Given the description of an element on the screen output the (x, y) to click on. 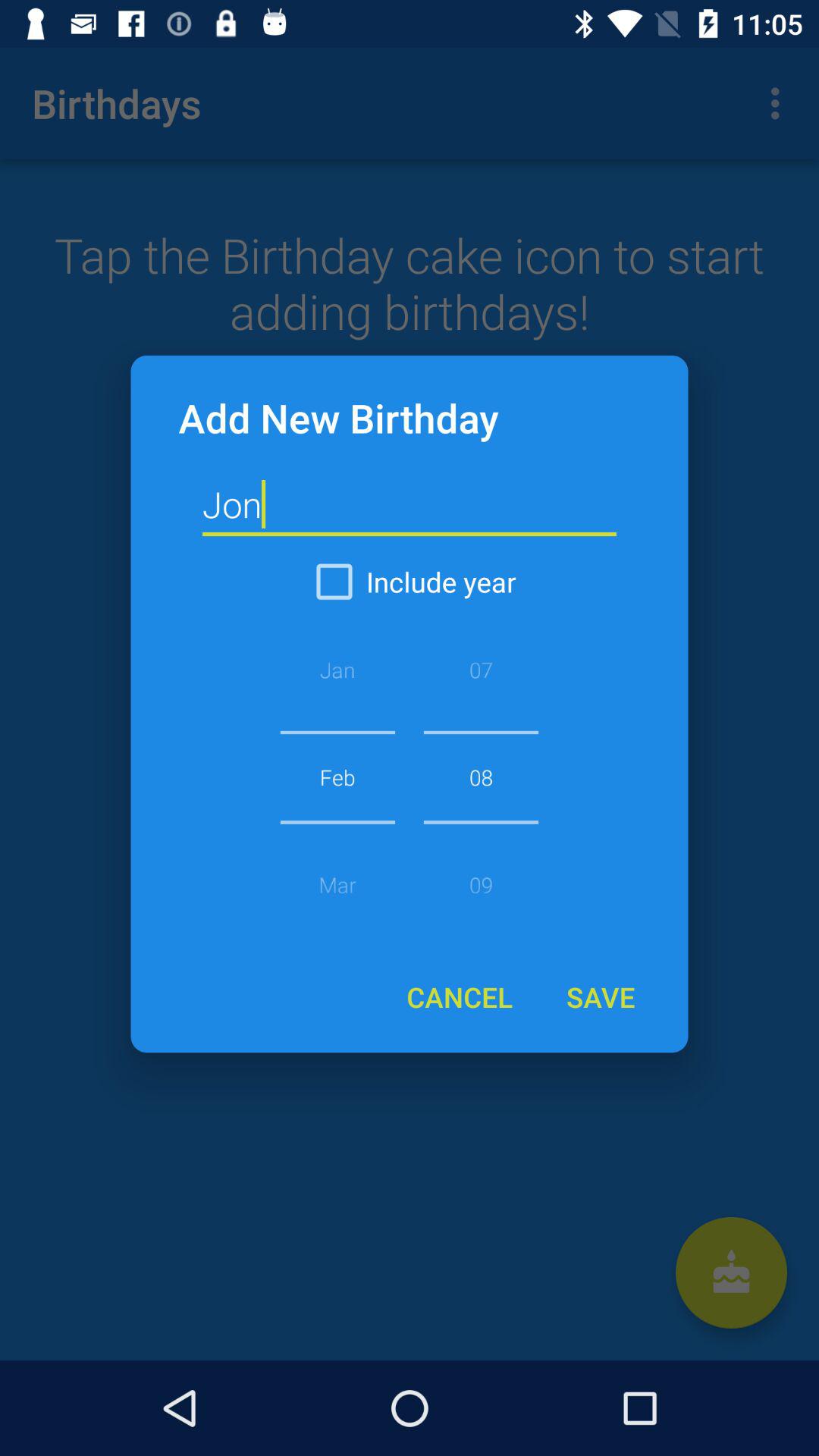
jump until the jon (409, 504)
